Given the description of an element on the screen output the (x, y) to click on. 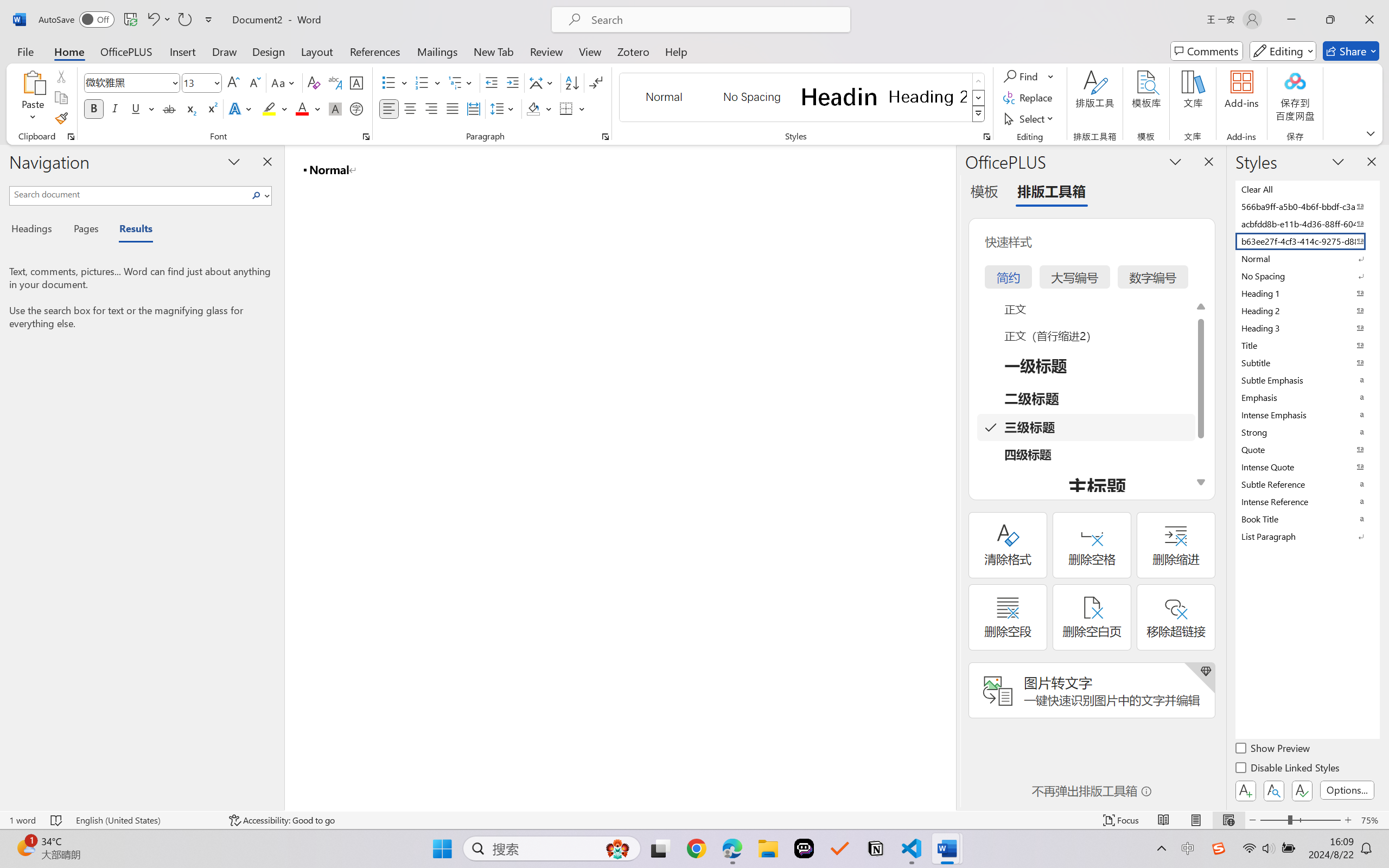
List Paragraph (1306, 536)
Find (1022, 75)
Open (215, 82)
Phonetic Guide... (334, 82)
Print Layout (1196, 819)
Paste (33, 97)
Insert (182, 51)
